Given the description of an element on the screen output the (x, y) to click on. 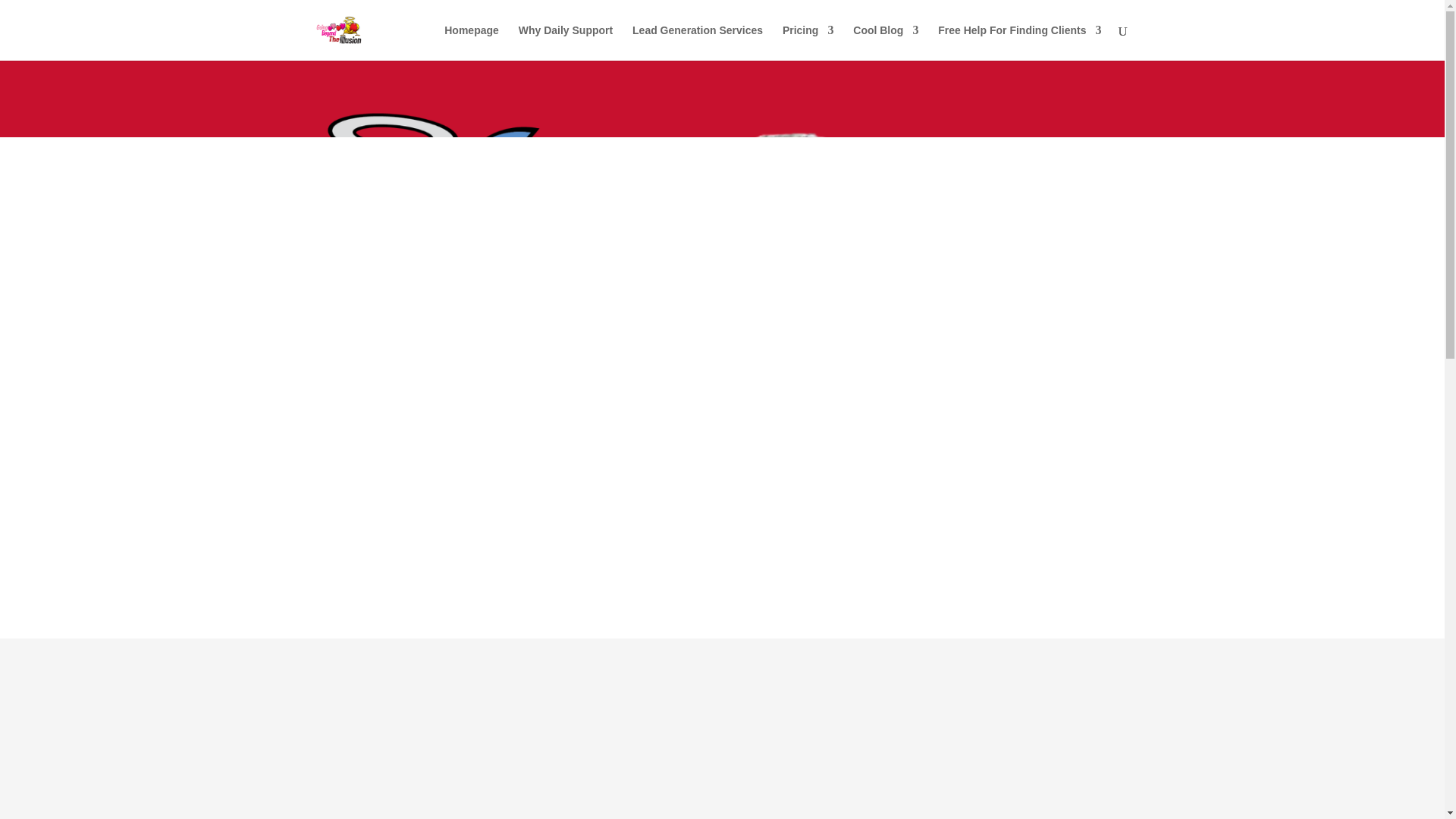
Free Help For Finding Clients (1018, 42)
Why Daily Support (565, 42)
Cool Blog (885, 42)
Lead Generation Services (696, 42)
Pricing (807, 42)
Homepage (471, 42)
